Given the description of an element on the screen output the (x, y) to click on. 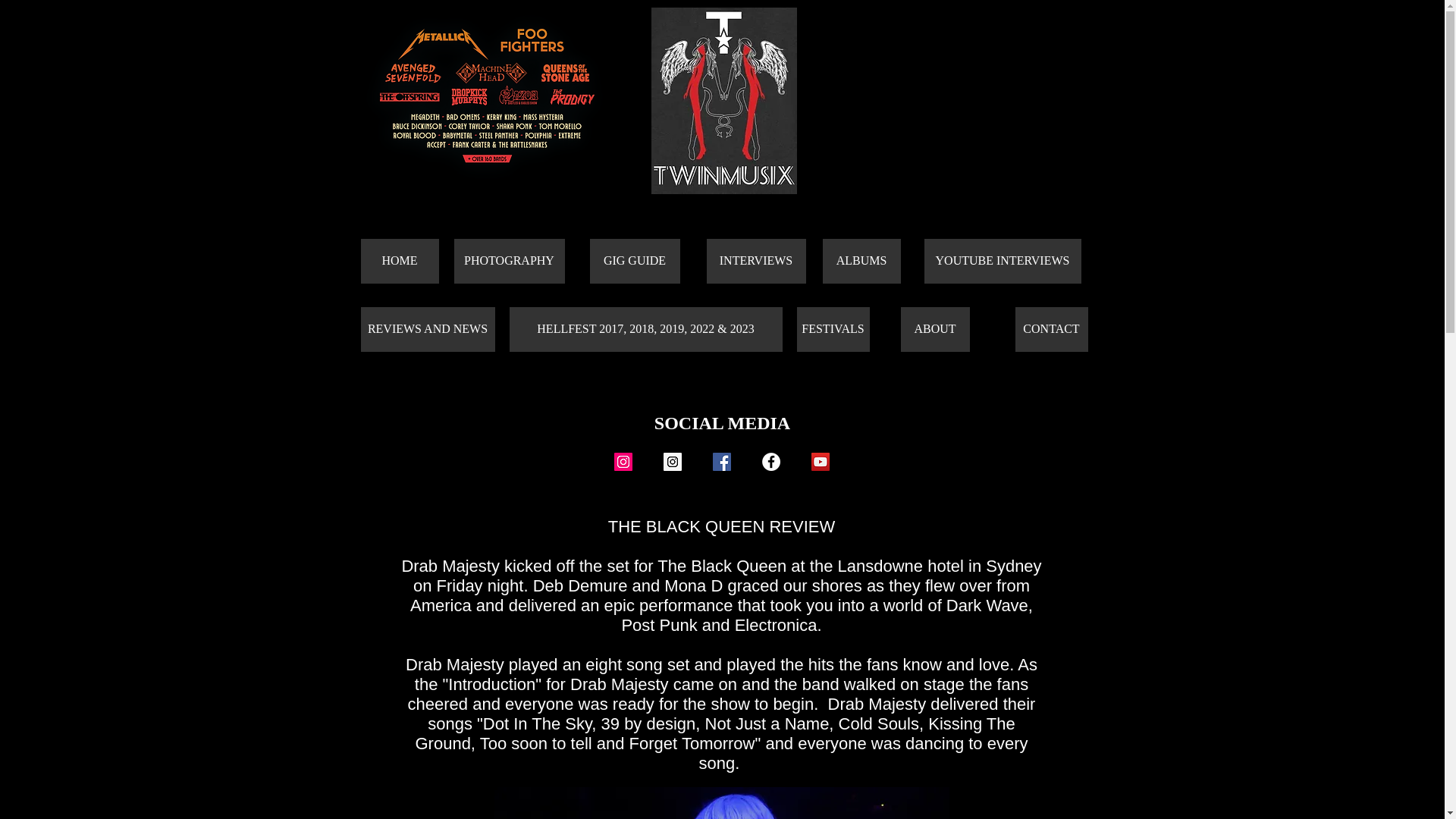
CONTACT (1050, 329)
YOUTUBE INTERVIEWS (1001, 261)
PHOTOGRAPHY (508, 261)
ALBUMS (860, 261)
GIG GUIDE (634, 261)
REVIEWS AND NEWS (428, 329)
ABOUT (935, 329)
HOME (400, 261)
FESTIVALS (832, 329)
INTERVIEWS (756, 261)
